Given the description of an element on the screen output the (x, y) to click on. 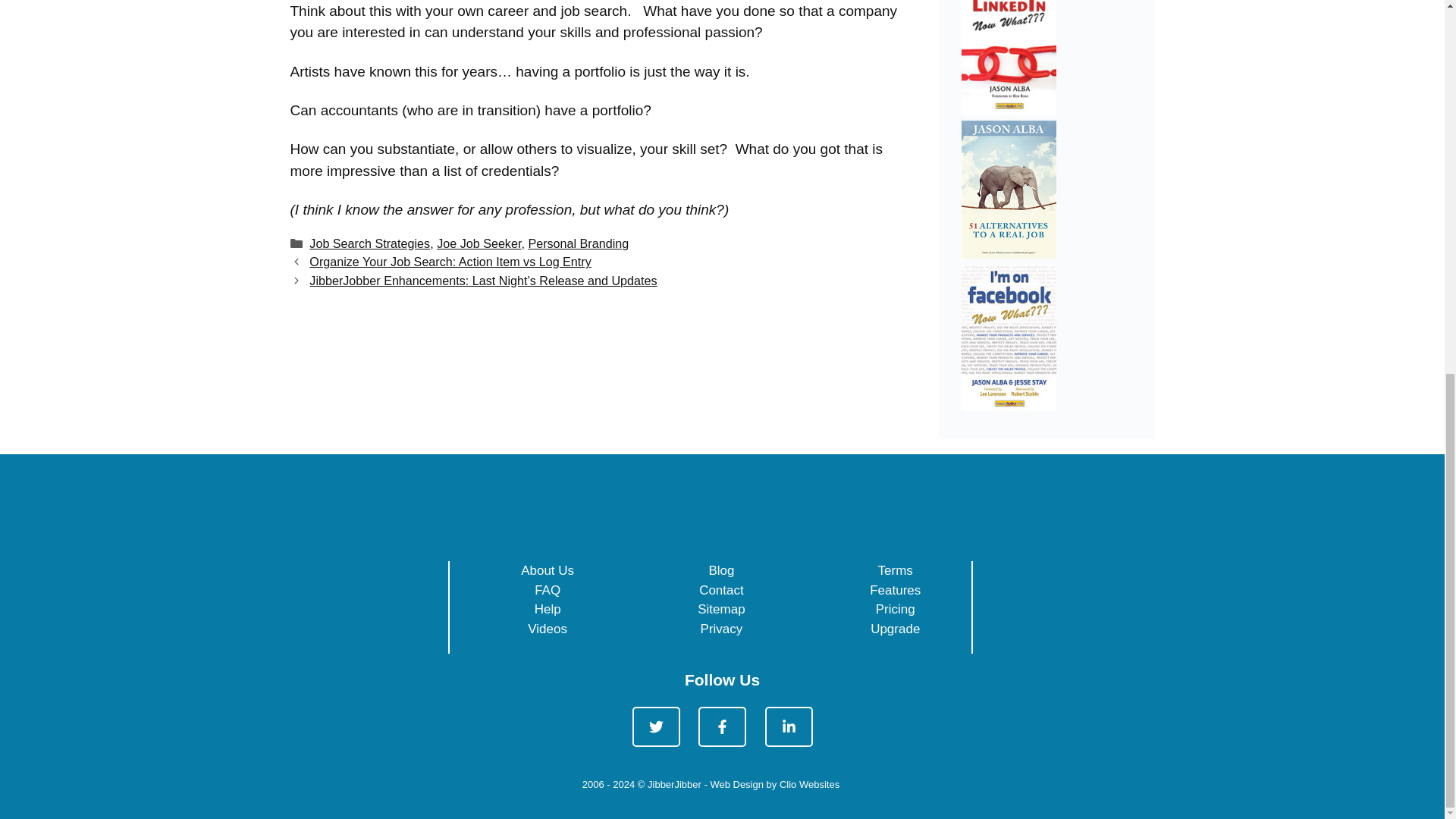
Blog (720, 570)
Pricing (895, 608)
Job Search Strategies (368, 243)
Features (894, 590)
Personal Branding (577, 243)
Privacy (721, 628)
Previous (449, 261)
Upgrade (895, 628)
Help (547, 608)
Contact (721, 590)
Terms (894, 570)
About Us (547, 570)
Sitemap (720, 608)
Next (482, 280)
Organize Your Job Search: Action Item vs Log Entry (449, 261)
